Given the description of an element on the screen output the (x, y) to click on. 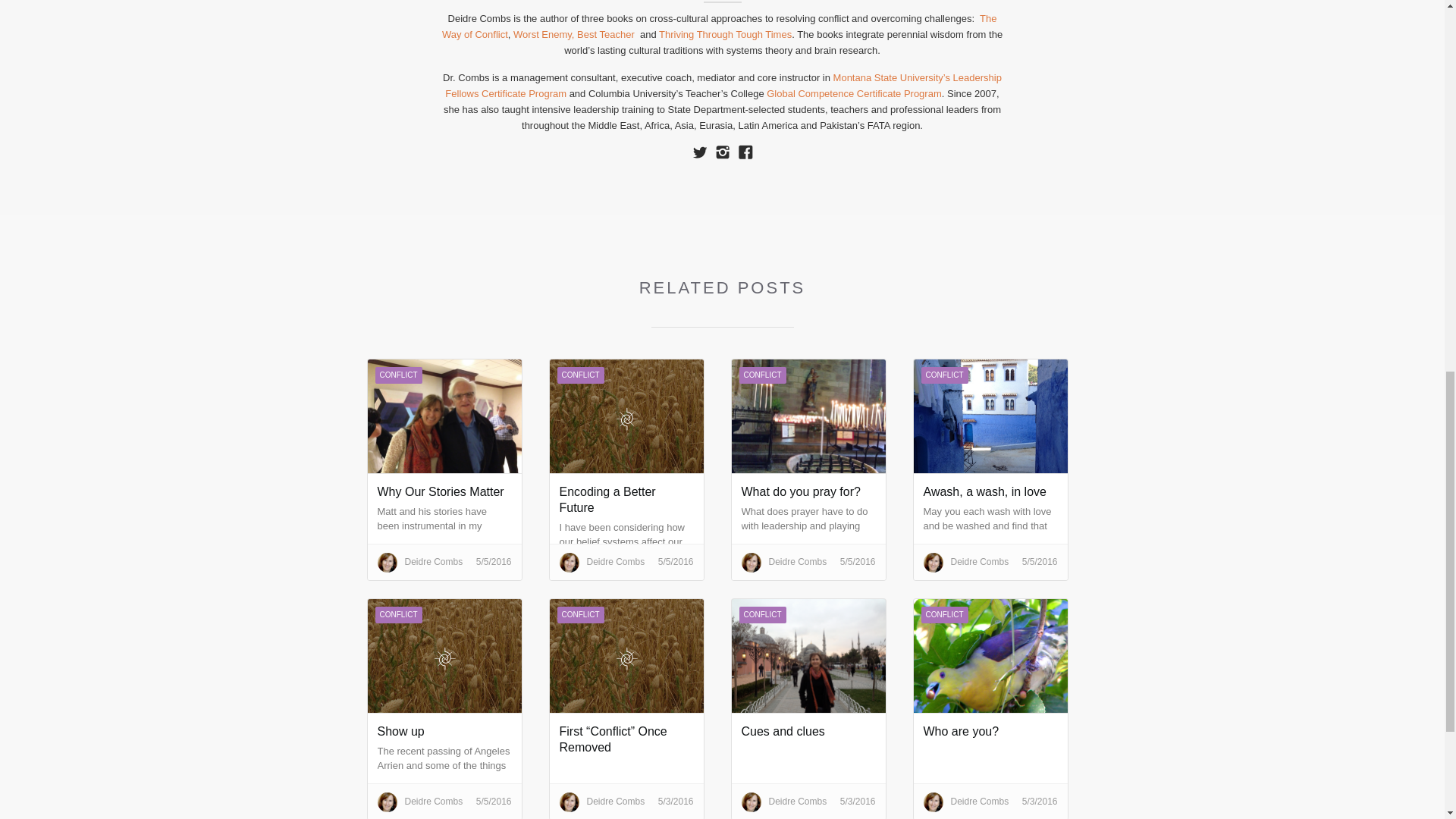
Global Competence Certificate Program (854, 93)
Thriving Through Tough Times (725, 34)
Worst Enemy, Best Teacher  (575, 34)
The Way of Conflict (719, 26)
